Given the description of an element on the screen output the (x, y) to click on. 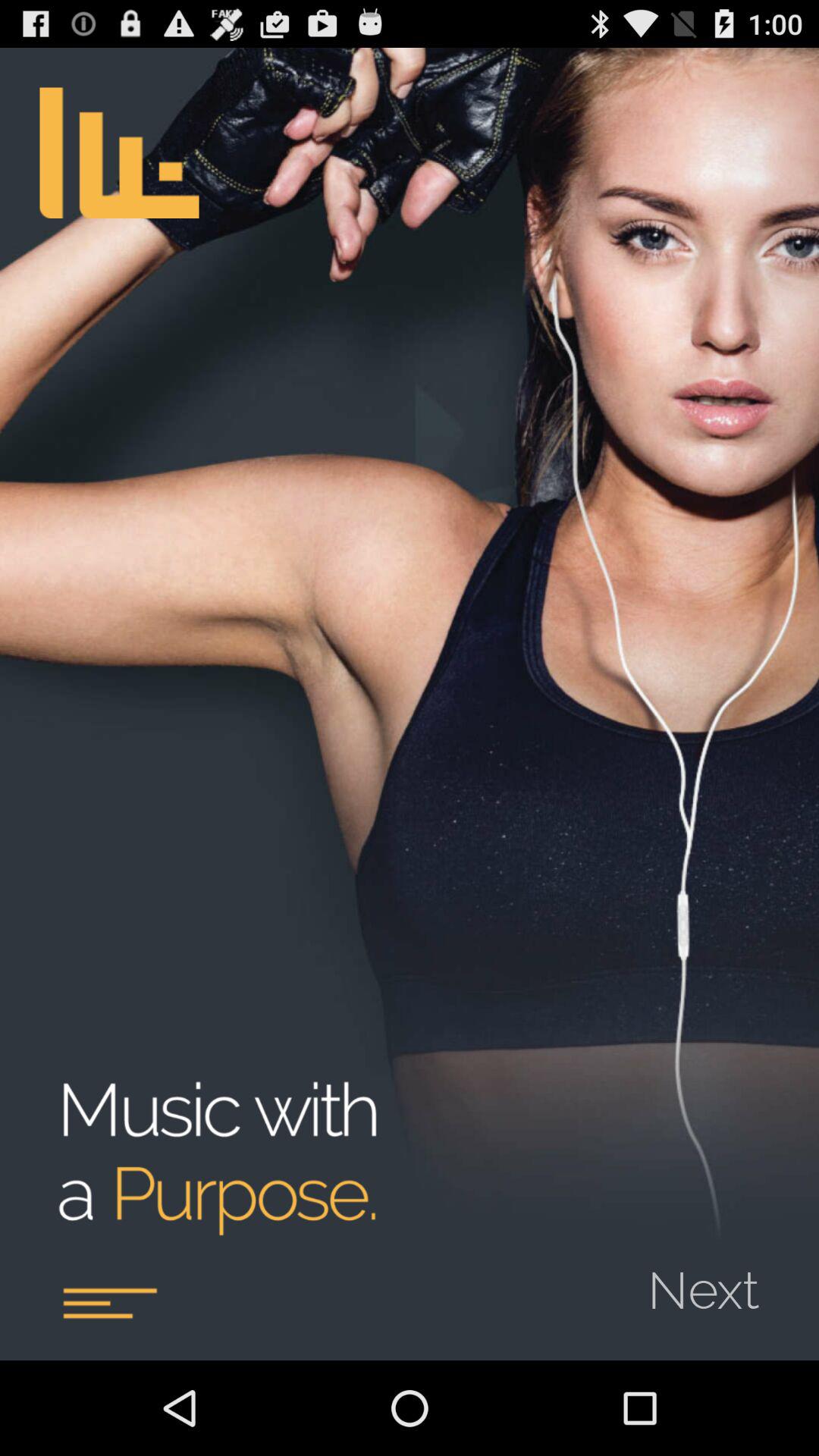
turn off the icon to the left of next item (109, 1302)
